Given the description of an element on the screen output the (x, y) to click on. 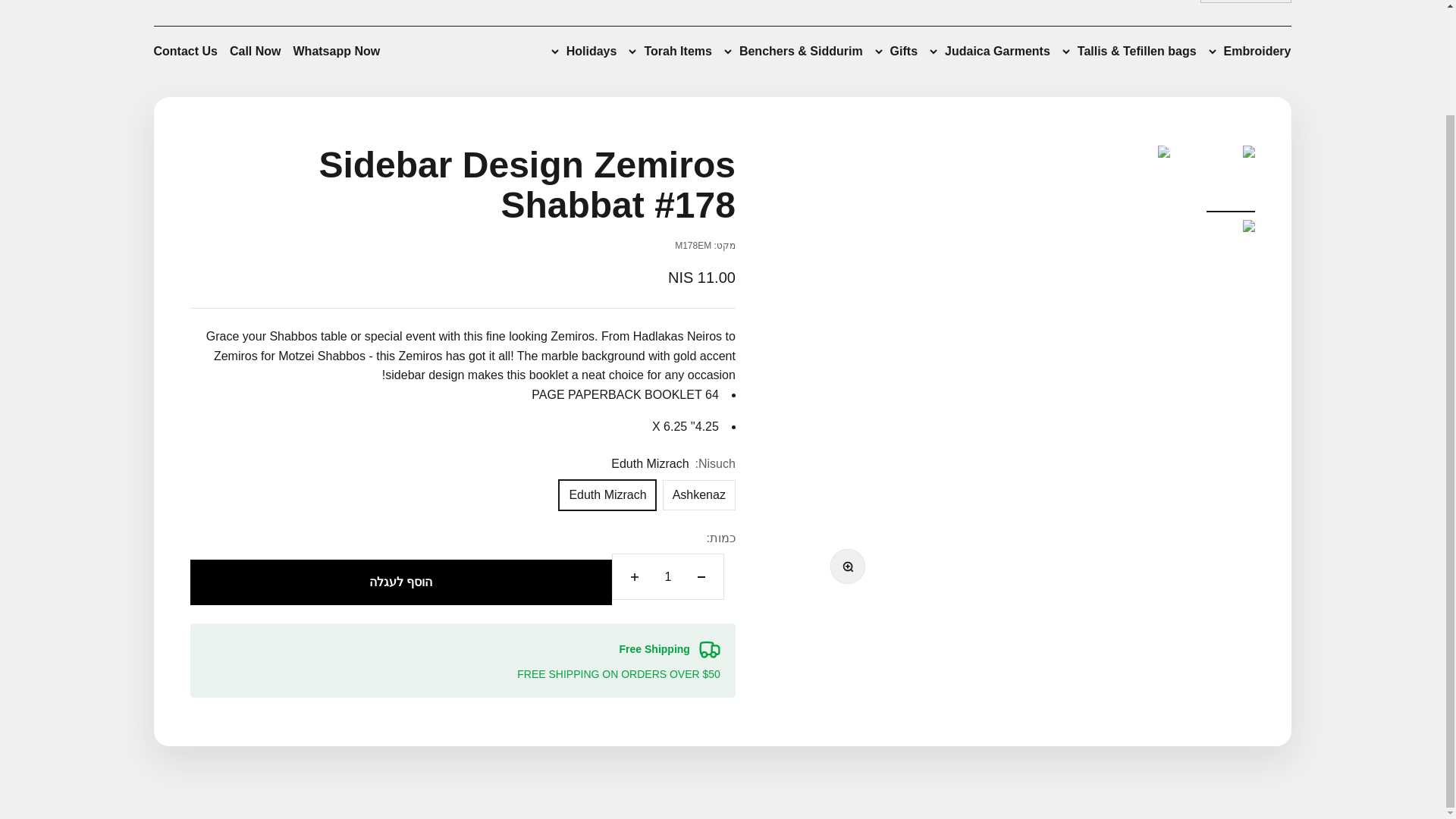
Judaica Garments (989, 51)
Gifts (896, 51)
Embroidery (1249, 51)
1 (667, 576)
